Given the description of an element on the screen output the (x, y) to click on. 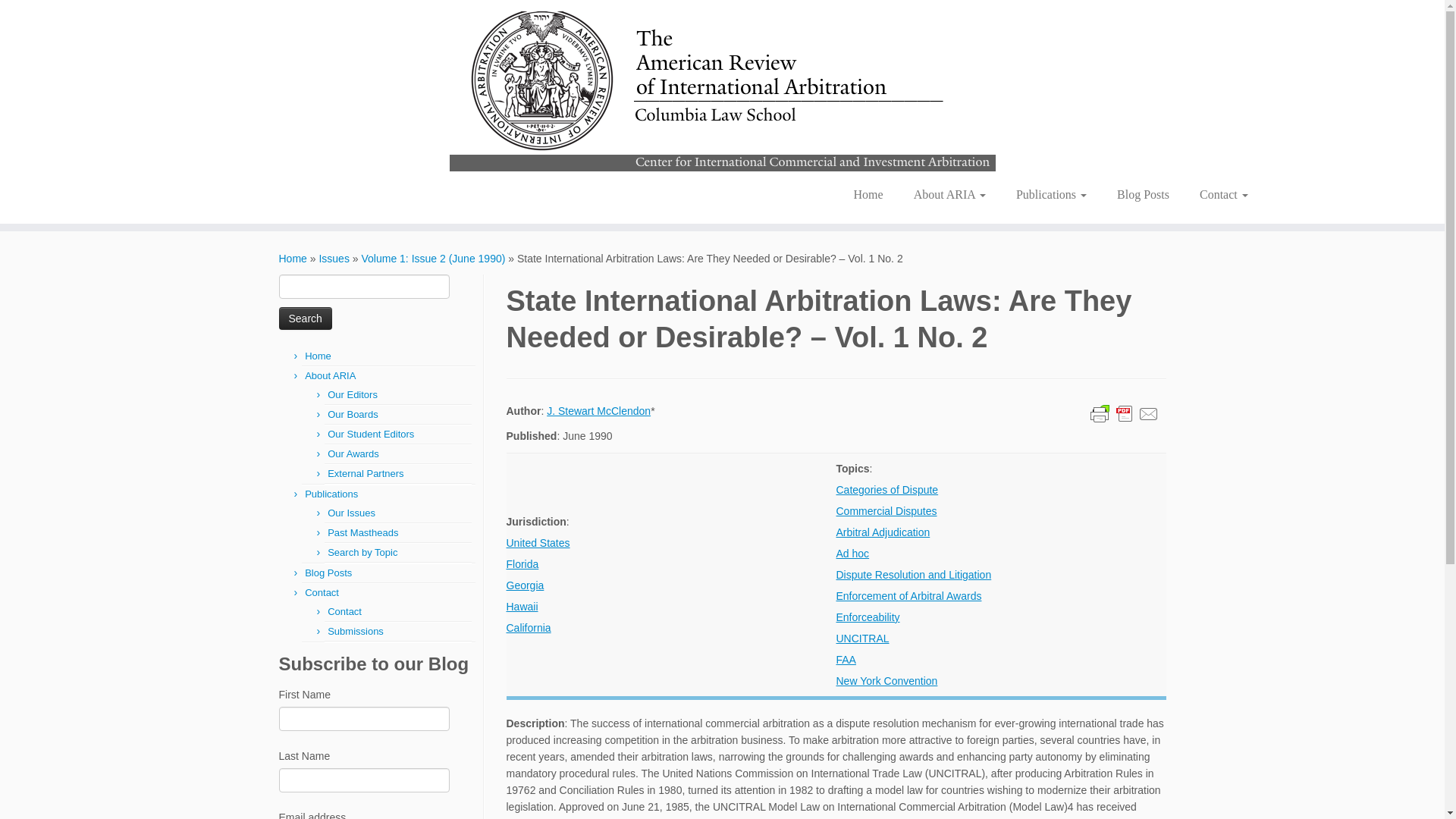
Issues (333, 258)
Blog Posts (1143, 194)
About ARIA (949, 194)
Our Student Editors (370, 433)
Contact (1216, 194)
Contact (321, 592)
Publications (1051, 194)
Home (317, 355)
Issues (333, 258)
American Review of International Arbitration (293, 258)
Blog Posts (328, 572)
Our Editors (352, 394)
Our Boards (352, 414)
Publications (331, 493)
